Given the description of an element on the screen output the (x, y) to click on. 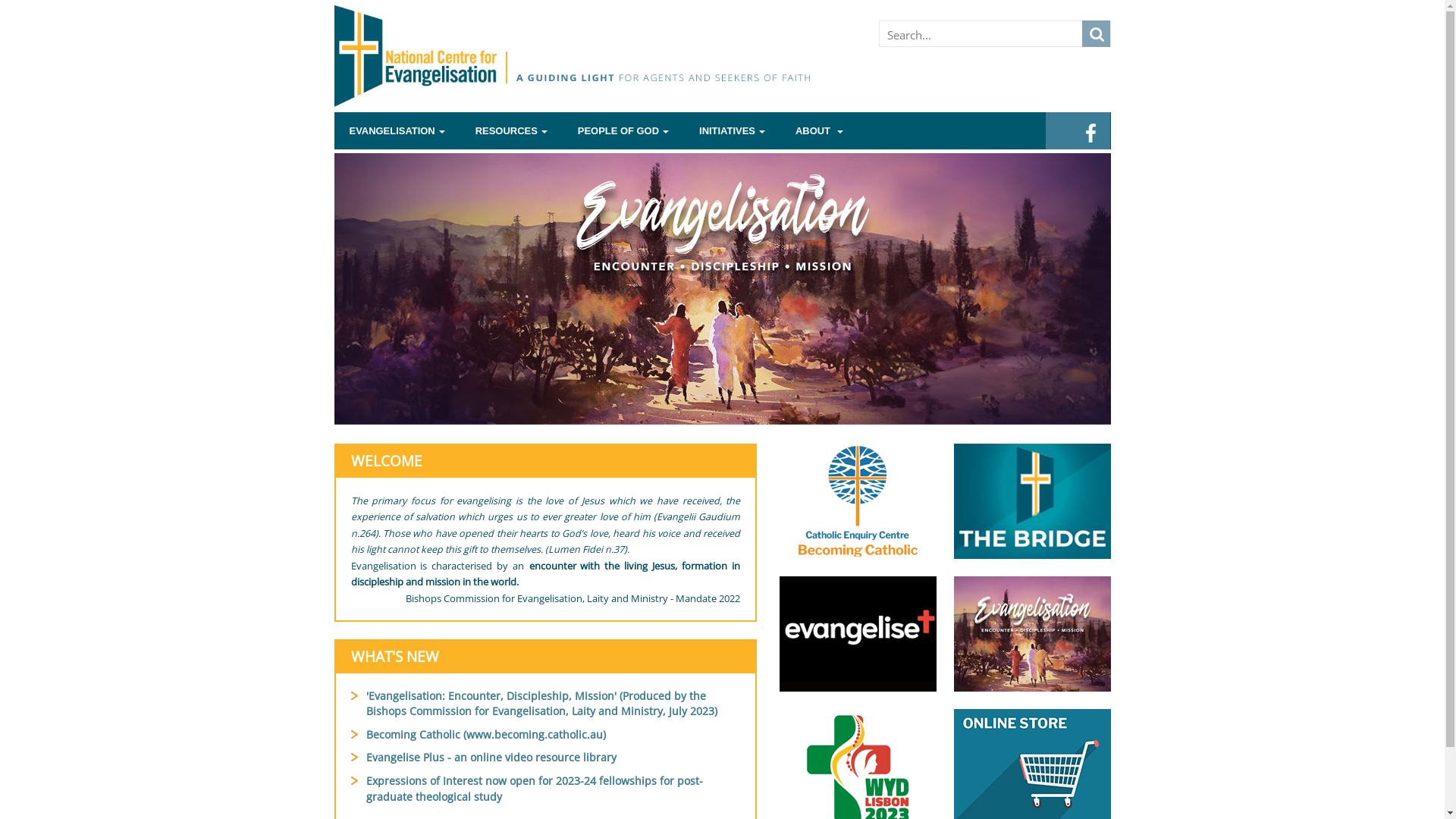
SEARCH Element type: text (1095, 33)
Evangelise Plus - an online video resource library Element type: text (490, 756)
Becoming Catholic (www.becoming.catholic.au) Element type: text (485, 734)
